Given the description of an element on the screen output the (x, y) to click on. 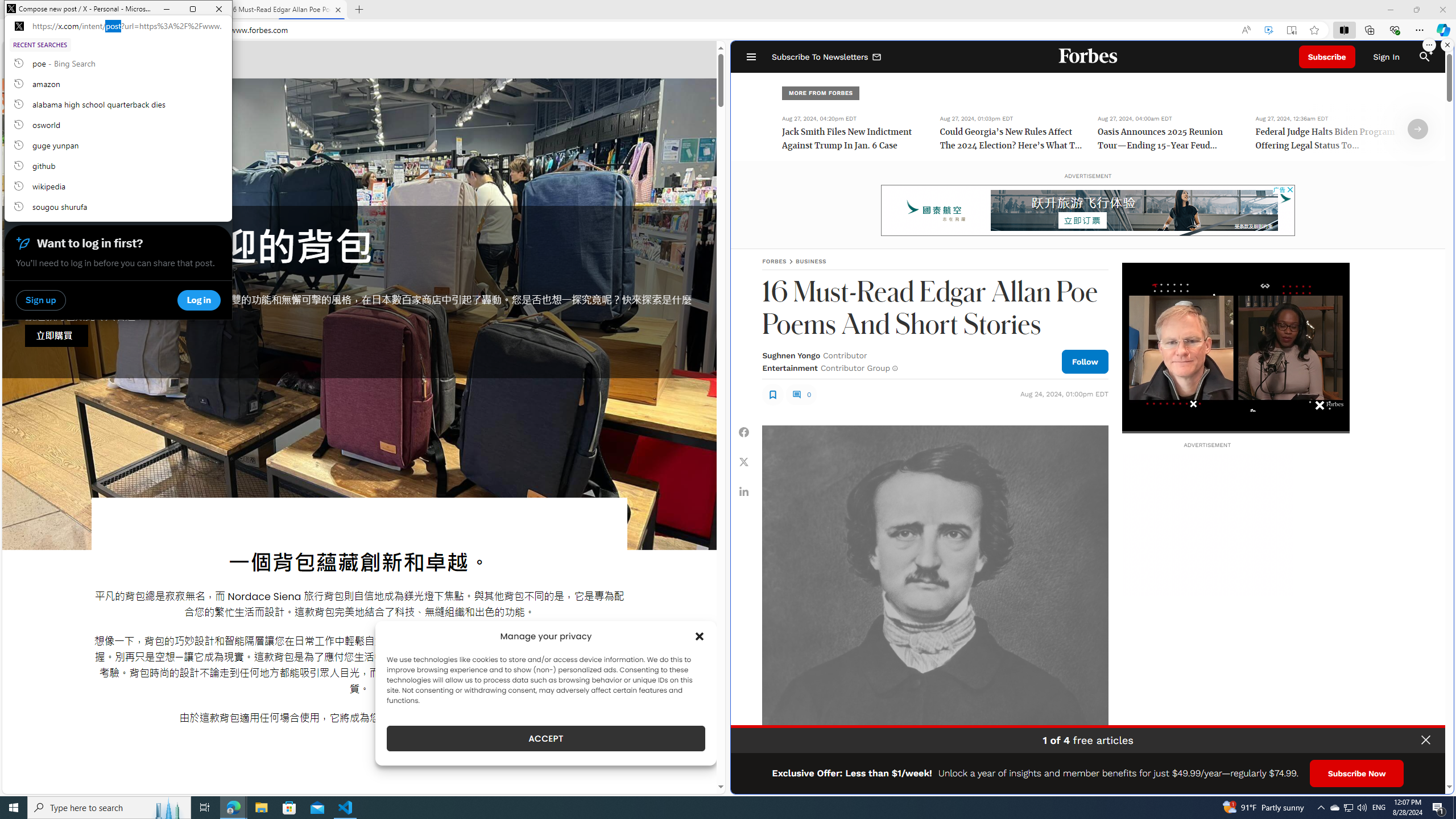
Class: sElHJWe4 (772, 394)
Follow Author (1084, 360)
Microsoft Store (289, 807)
Close split screen. (1447, 45)
Class: fs-icon fs-icon--arrow-right (1417, 129)
Tray Input Indicator - English (United States) (1378, 807)
Class: search_svg__fs-icon search_svg__fs-icon--search (1424, 56)
Visual Studio Code - 1 running window (345, 807)
FORBES (774, 261)
